Given the description of an element on the screen output the (x, y) to click on. 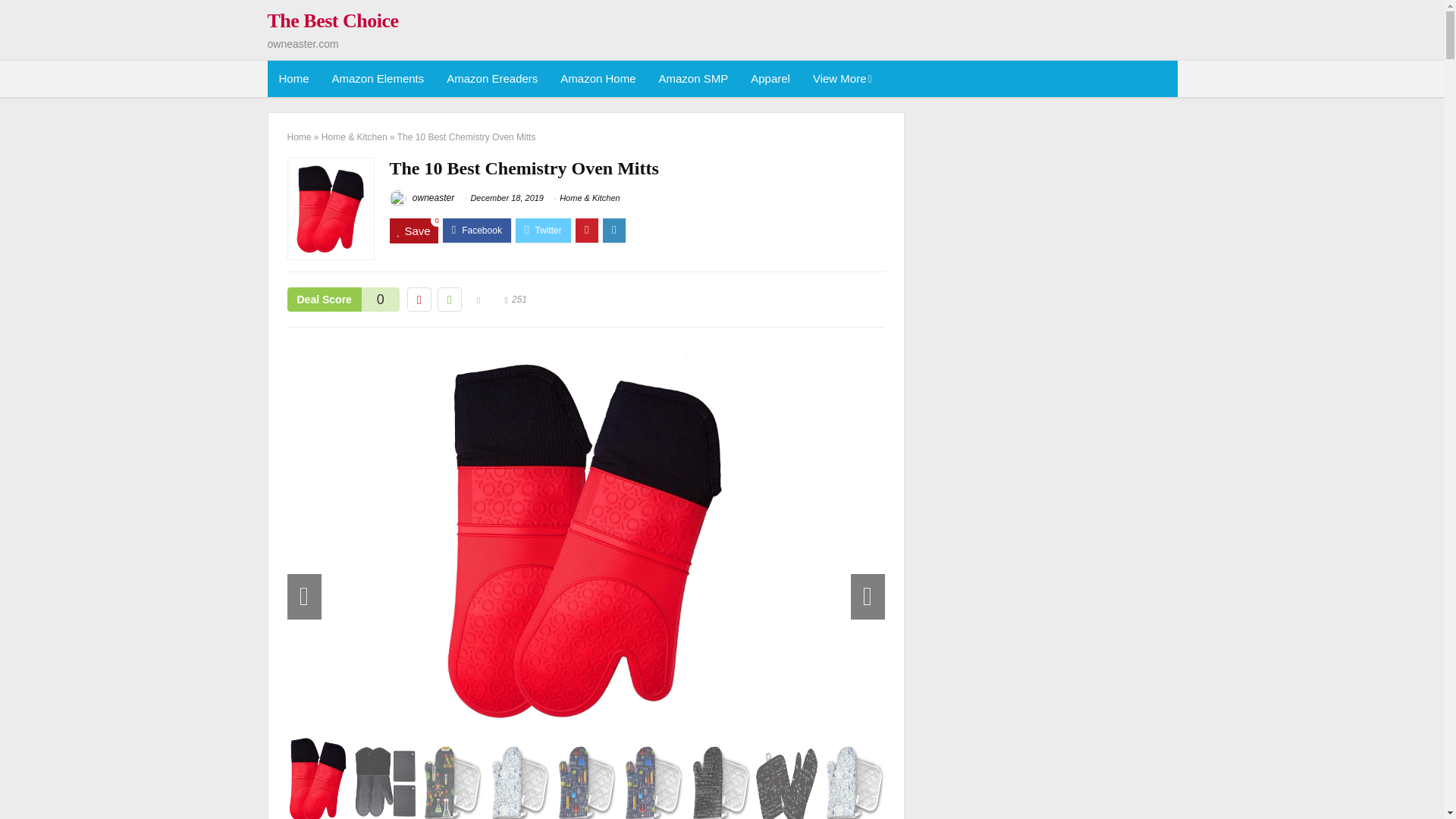
Home (293, 78)
Amazon Home (597, 78)
Amazon Ereaders (491, 78)
Apparel (770, 78)
Vote down (418, 299)
View More (841, 78)
Amazon Elements (377, 78)
Amazon SMP (693, 78)
